Given the description of an element on the screen output the (x, y) to click on. 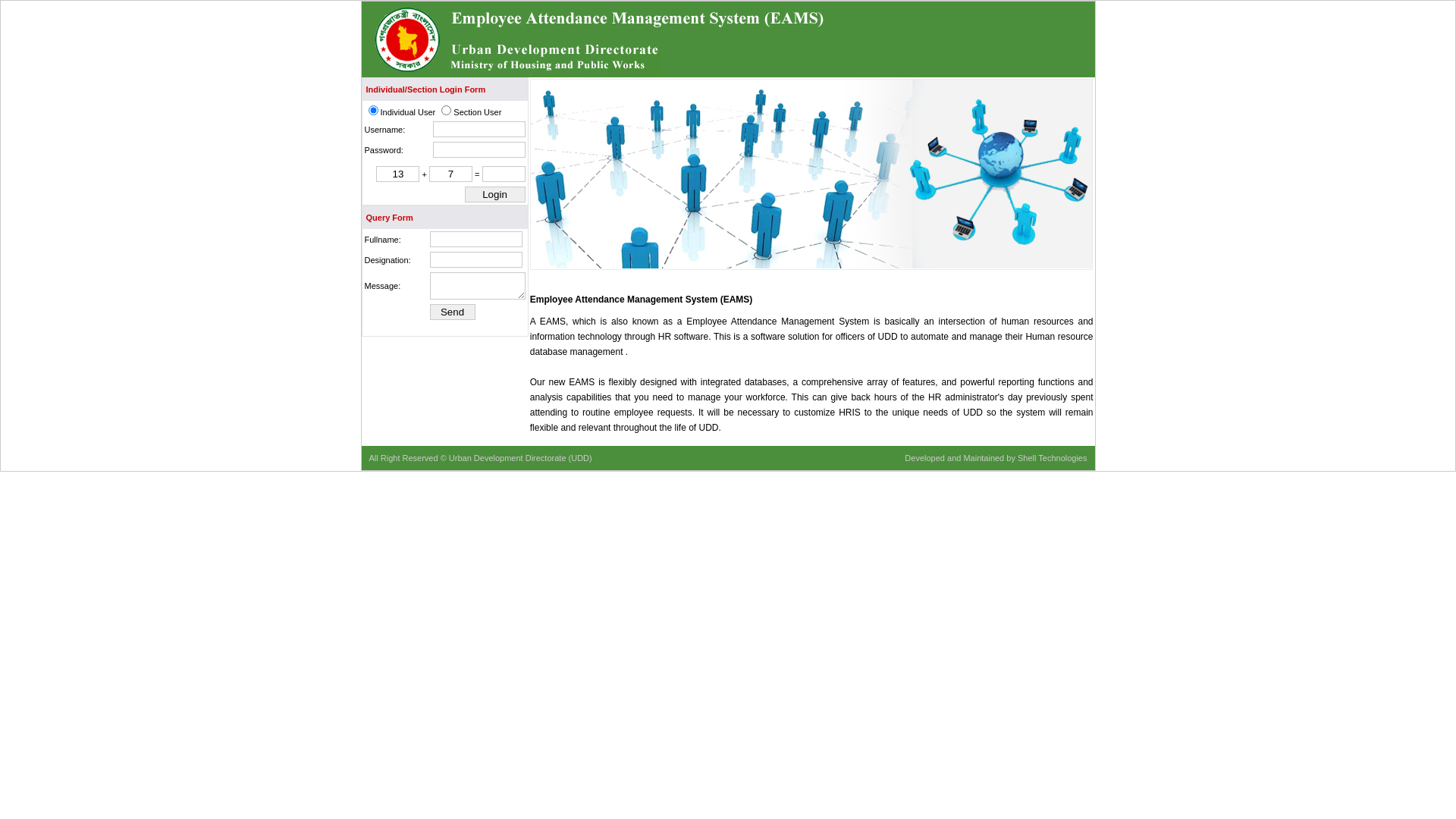
Enter User Name Element type: hover (475, 259)
Click to Sign In Element type: hover (494, 194)
Login Element type: text (494, 194)
dd-mm--yyyy Element type: hover (478, 129)
Enter National ID No Element type: hover (478, 149)
Click to Sign In Element type: hover (451, 312)
Enter User Name Element type: hover (475, 239)
Send Element type: text (451, 312)
